Given the description of an element on the screen output the (x, y) to click on. 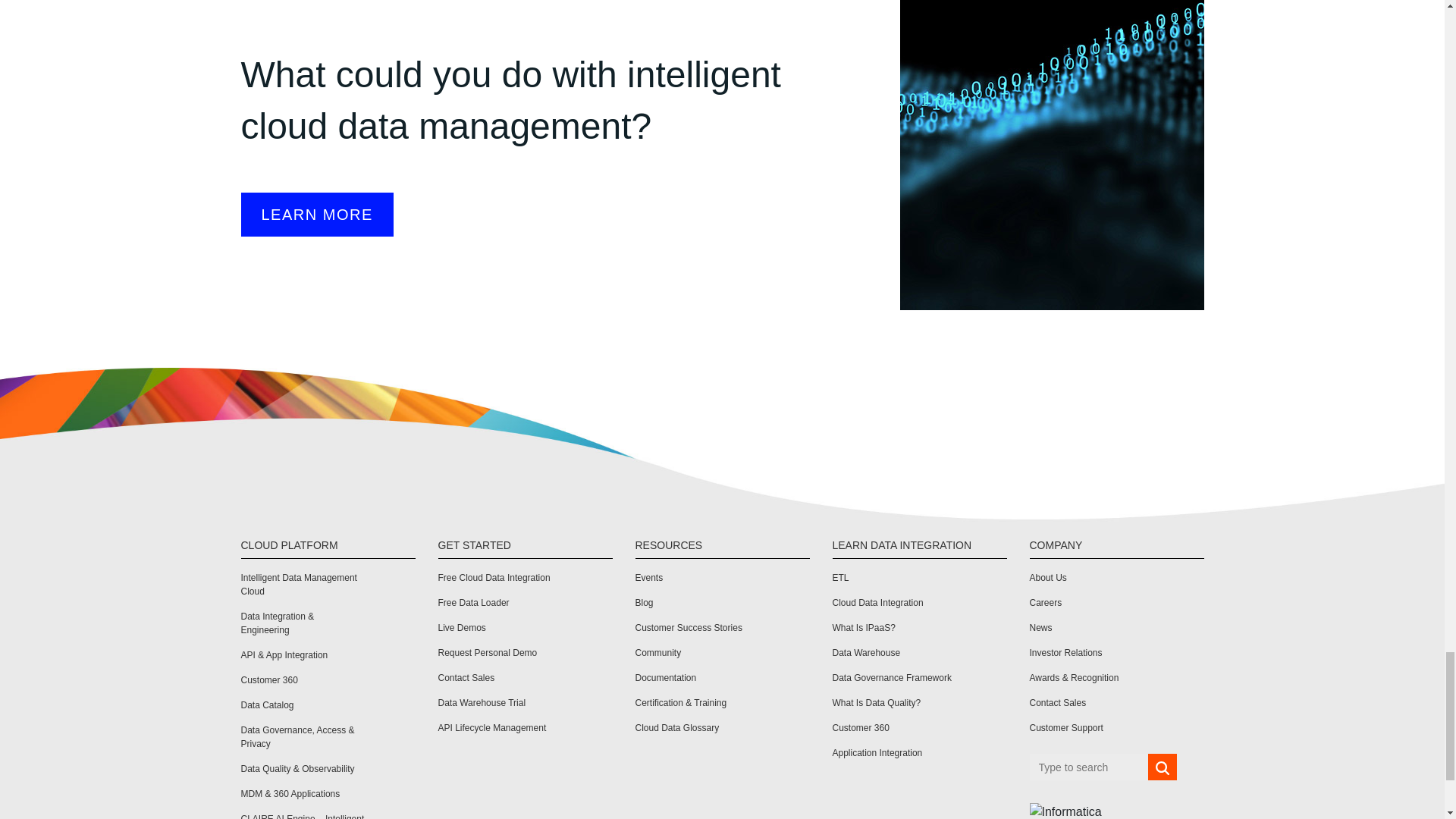
Insert a query. Press enter to send (1088, 766)
Search (1162, 767)
